Given the description of an element on the screen output the (x, y) to click on. 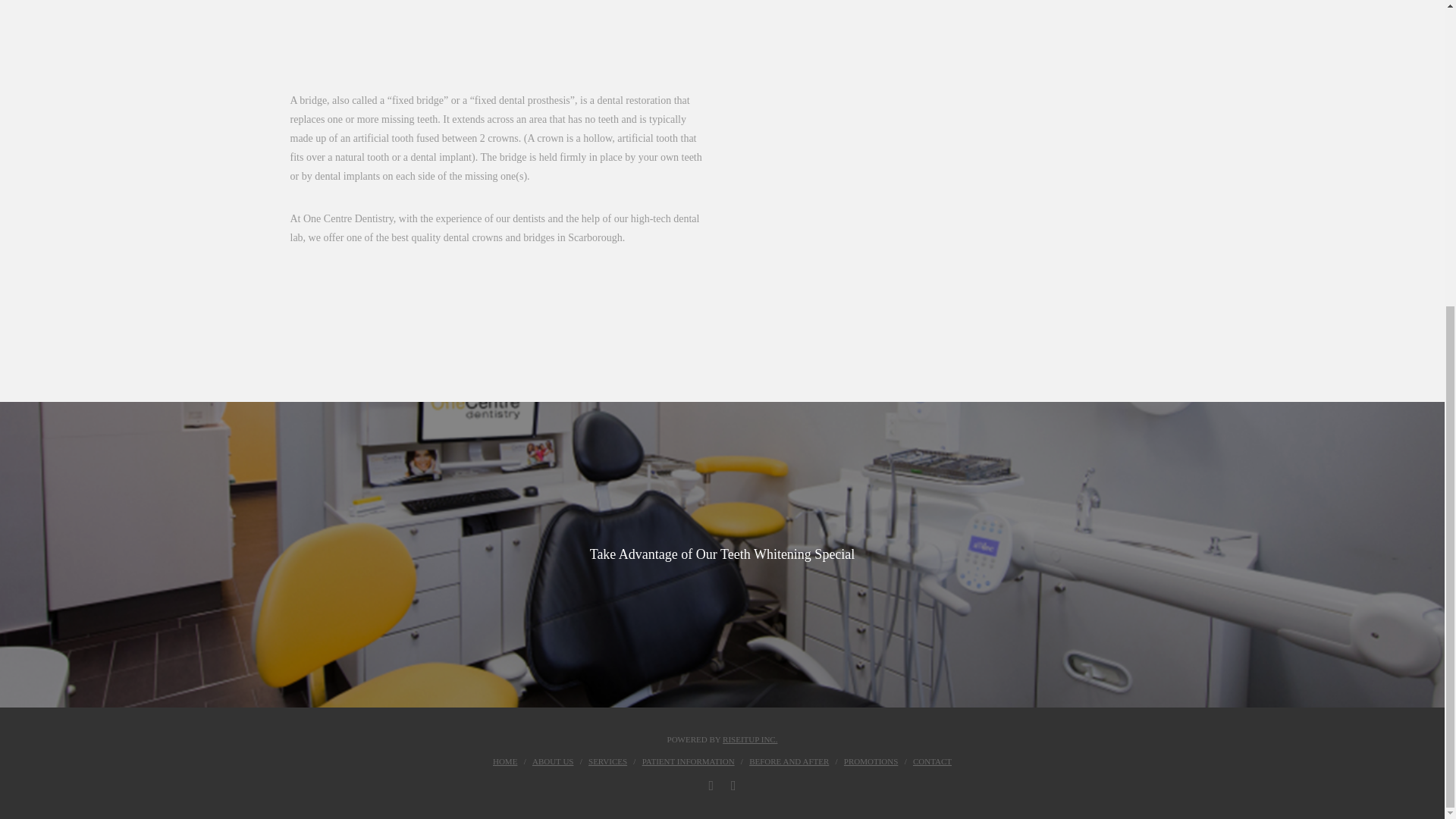
RiseItUp Inc. (749, 738)
